Given the description of an element on the screen output the (x, y) to click on. 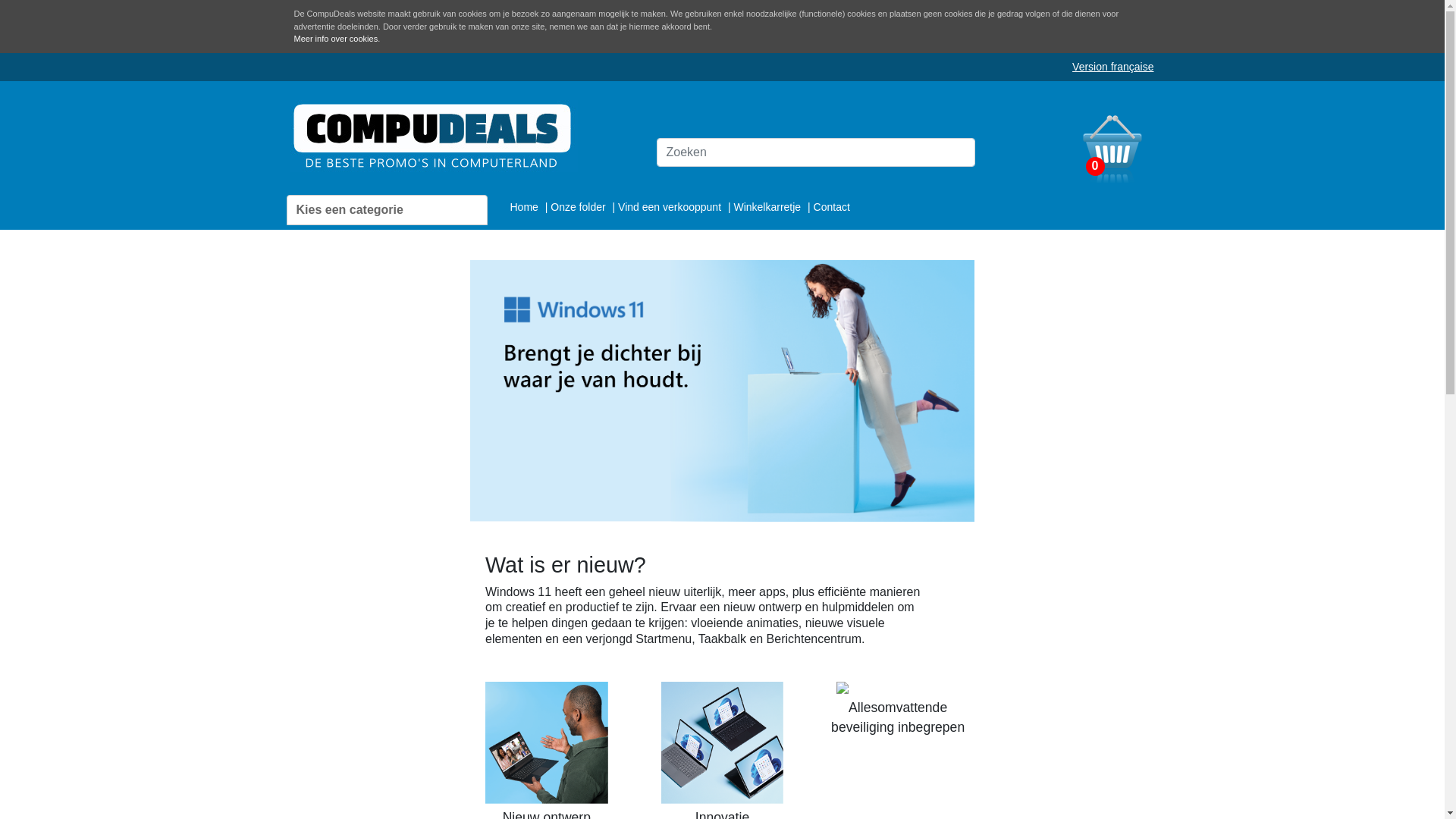
Onze folder Element type: text (579, 206)
Winkelkarretje Element type: text (768, 206)
Vind een verkooppunt Element type: text (671, 206)
Home Element type: text (524, 206)
Kies een categorie Element type: text (386, 209)
Meer info over cookies Element type: text (336, 38)
Contact Element type: text (831, 206)
